Given the description of an element on the screen output the (x, y) to click on. 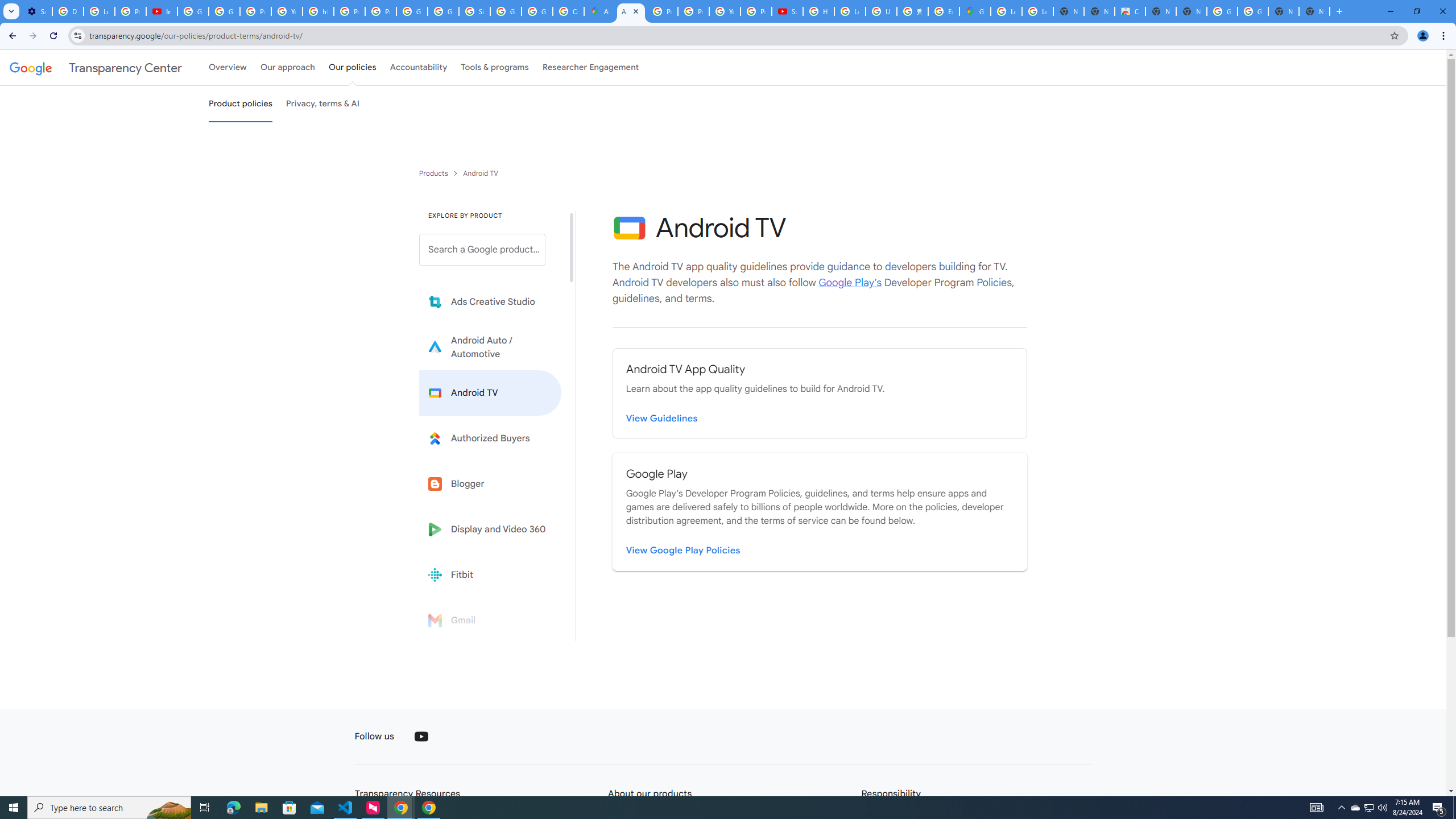
Learn more about Android TV (490, 393)
Gmail (490, 619)
Researcher Engagement (590, 67)
YouTube (286, 11)
Learn more about Android TV (490, 393)
Blogger (490, 483)
View Google Play Policies (683, 550)
Learn more about Ads Creative Studio (490, 302)
